Given the description of an element on the screen output the (x, y) to click on. 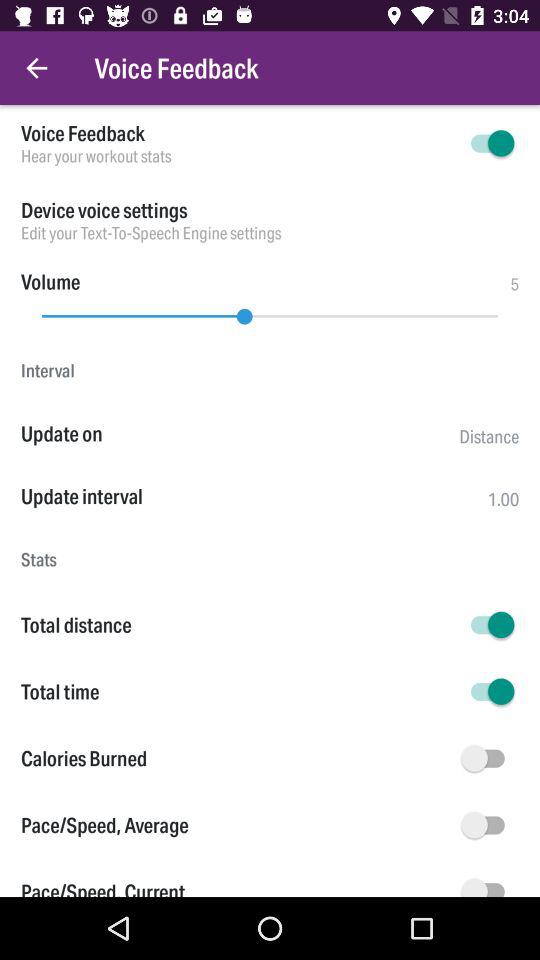
launch the item to the left of the voice feedback icon (36, 68)
